Given the description of an element on the screen output the (x, y) to click on. 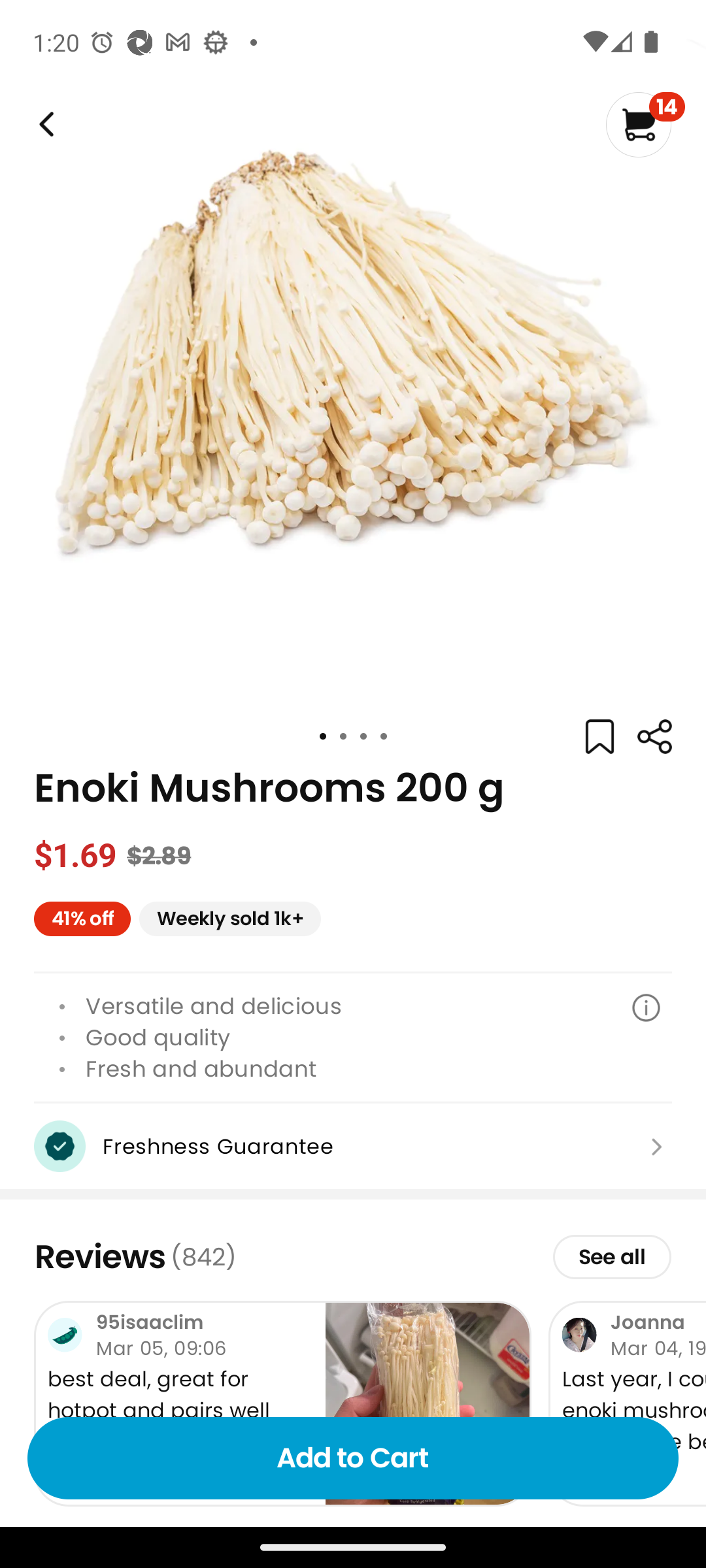
14 (644, 124)
Weee! (45, 124)
Weee! (653, 736)
Freshness Guarantee (352, 1145)
Reviews (842) See all (353, 1256)
Add to Cart (352, 1458)
